Given the description of an element on the screen output the (x, y) to click on. 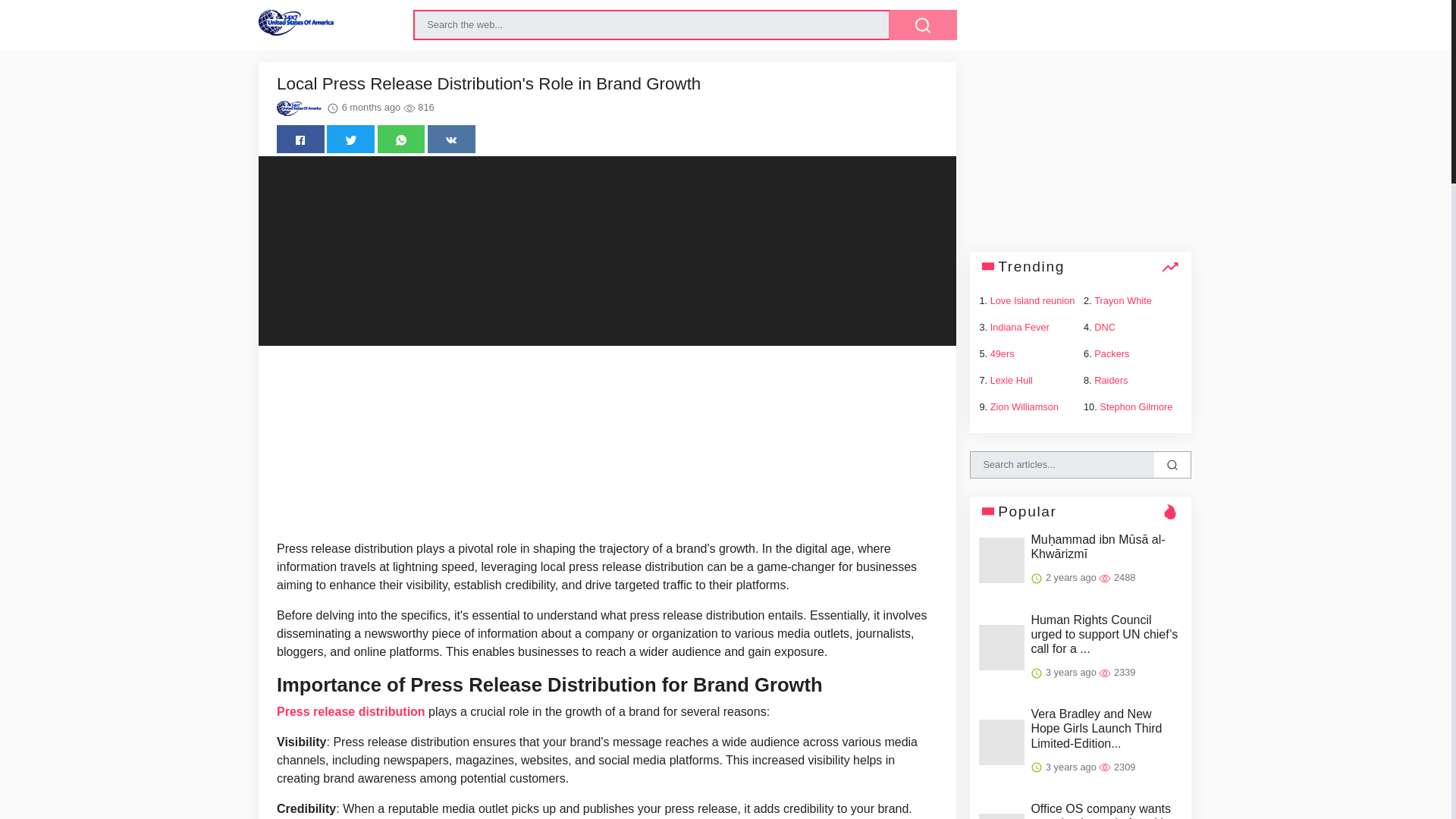
Packers (1111, 353)
49ers (1002, 353)
Press release distribution (350, 711)
Share on Facebook (300, 139)
Trayon White (1122, 300)
Advertisement (606, 445)
Share on Twitter (350, 139)
Indiana Fever (1019, 326)
Raiders (1110, 379)
Love Island reunion (1032, 300)
